Given the description of an element on the screen output the (x, y) to click on. 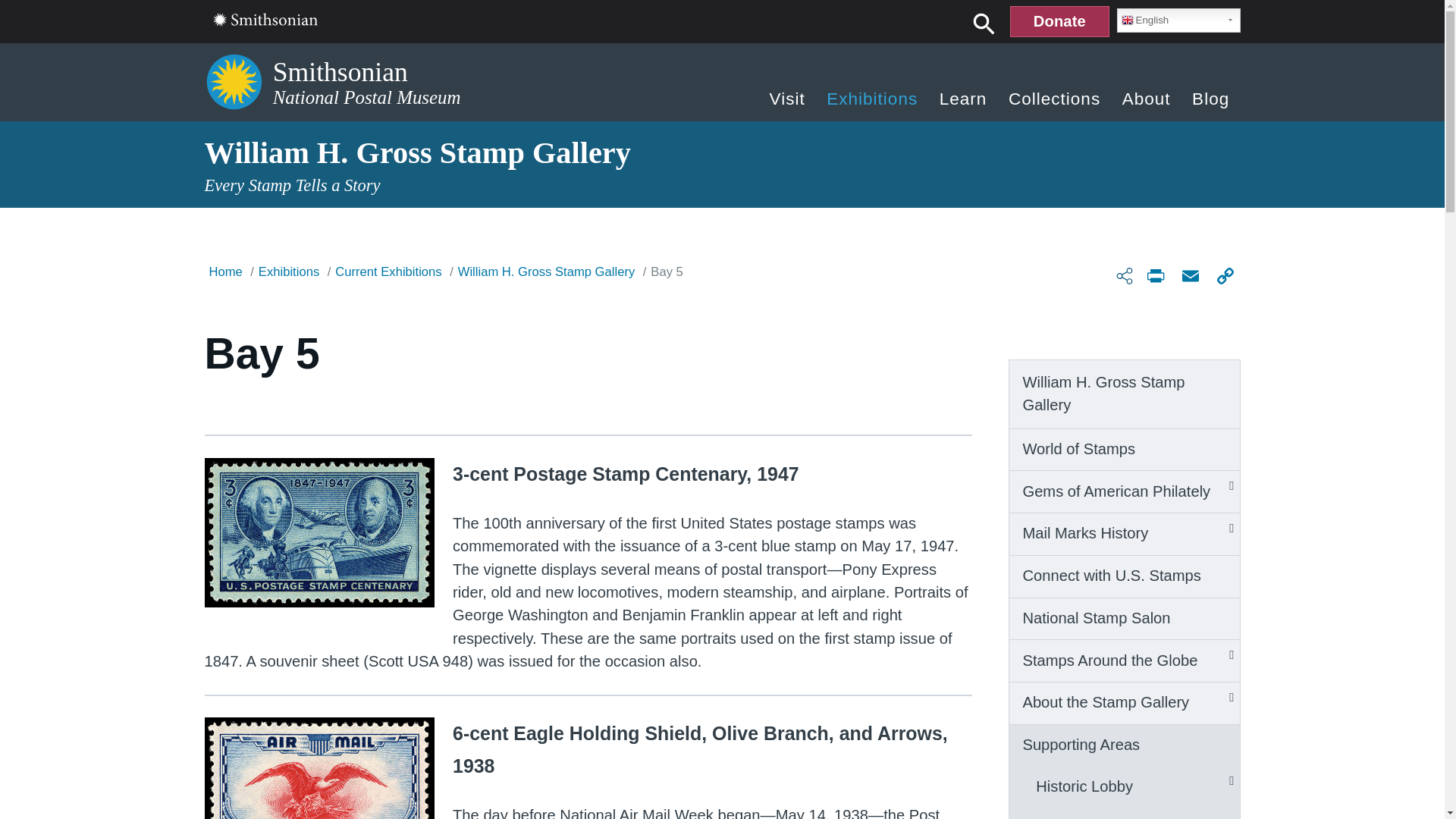
Donate (1059, 21)
Search (984, 23)
English (1178, 20)
